Given the description of an element on the screen output the (x, y) to click on. 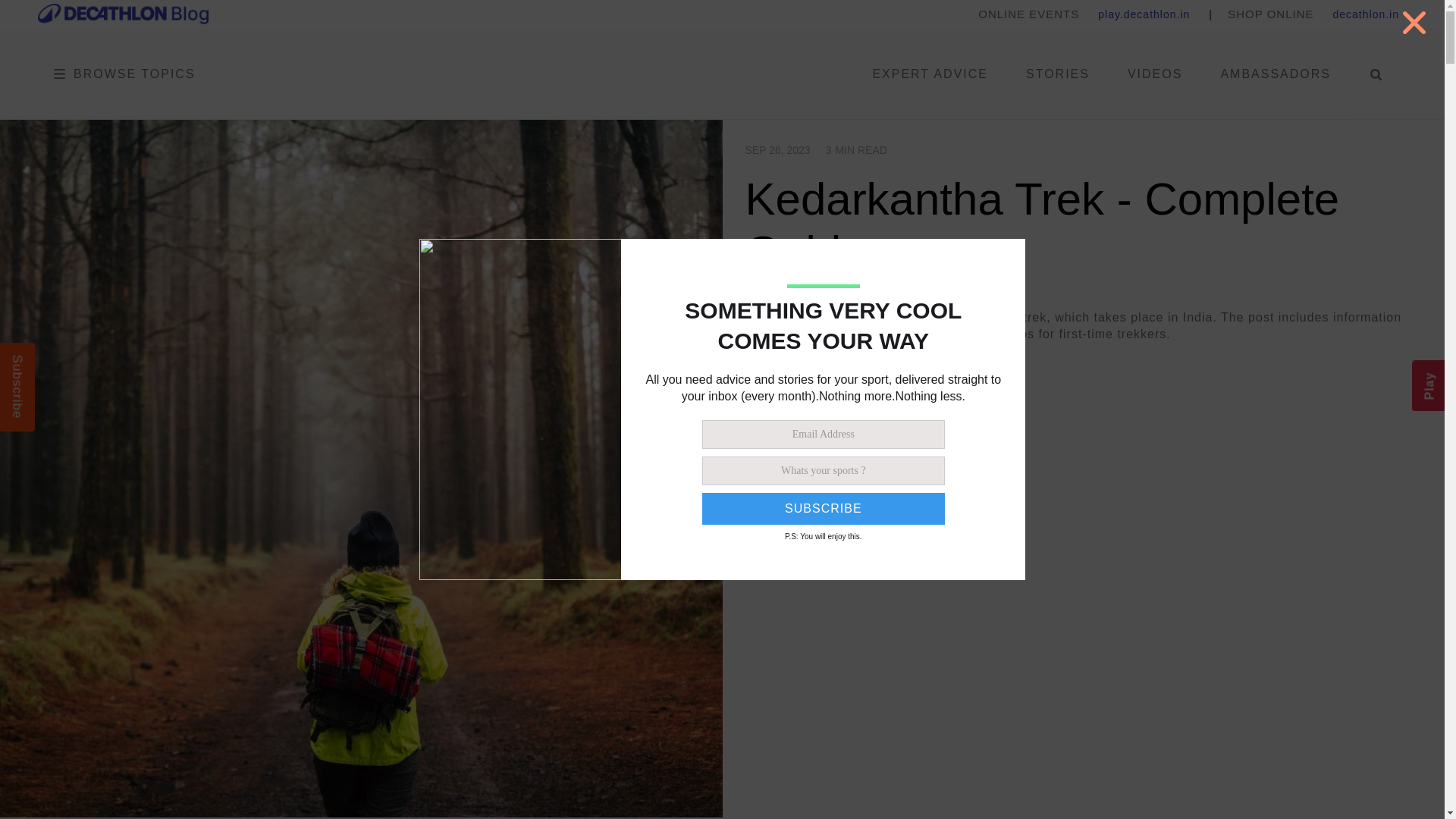
SUBSCRIBE (822, 508)
